Given the description of an element on the screen output the (x, y) to click on. 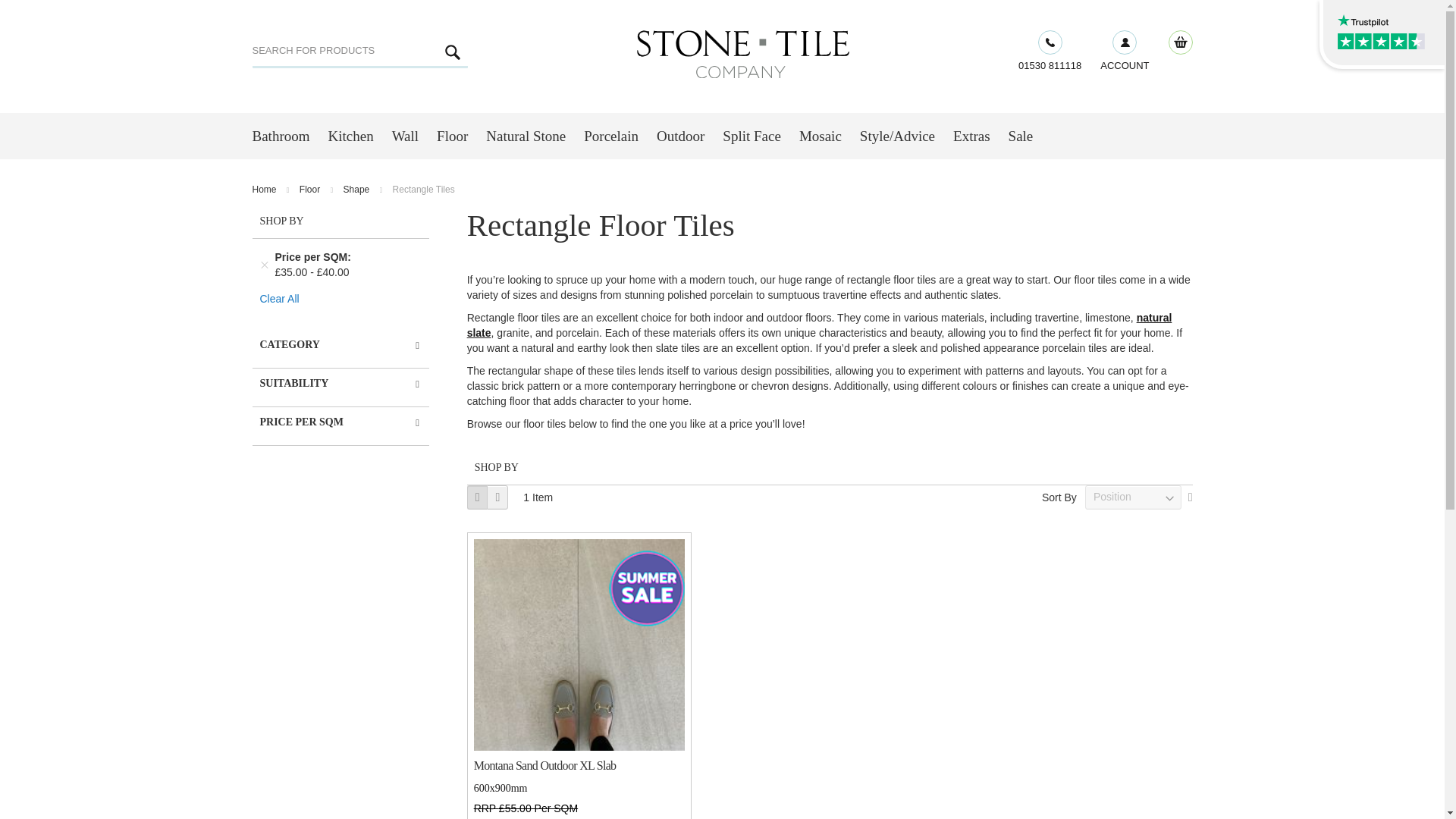
Customer reviews powered by Trustpilot (1383, 30)
The Stone and Tile Company (742, 53)
ACCOUNT (1124, 51)
01530 811118 (1049, 51)
